Given the description of an element on the screen output the (x, y) to click on. 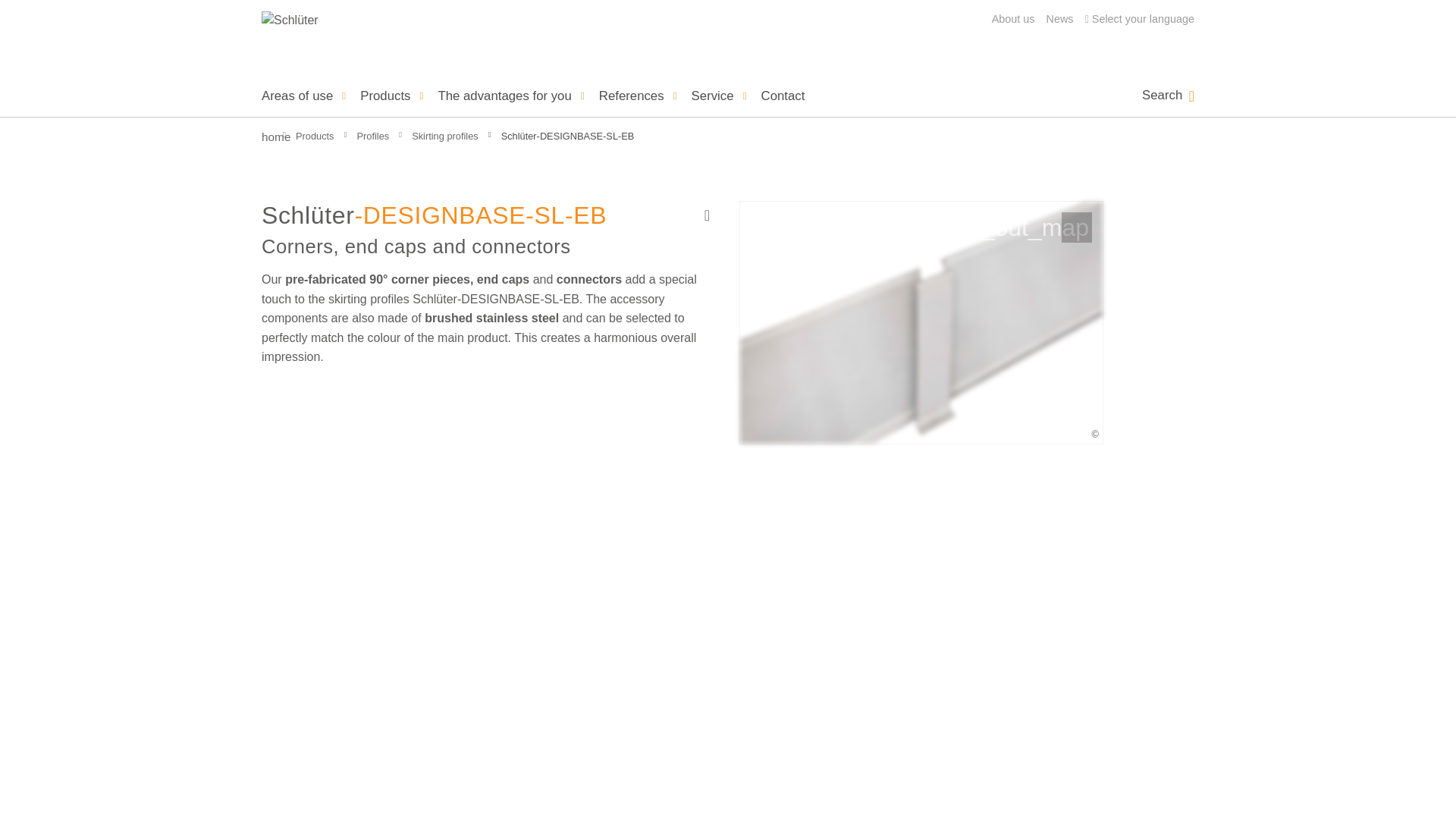
About us (1013, 19)
Select your language (1142, 19)
News (1060, 19)
